Given the description of an element on the screen output the (x, y) to click on. 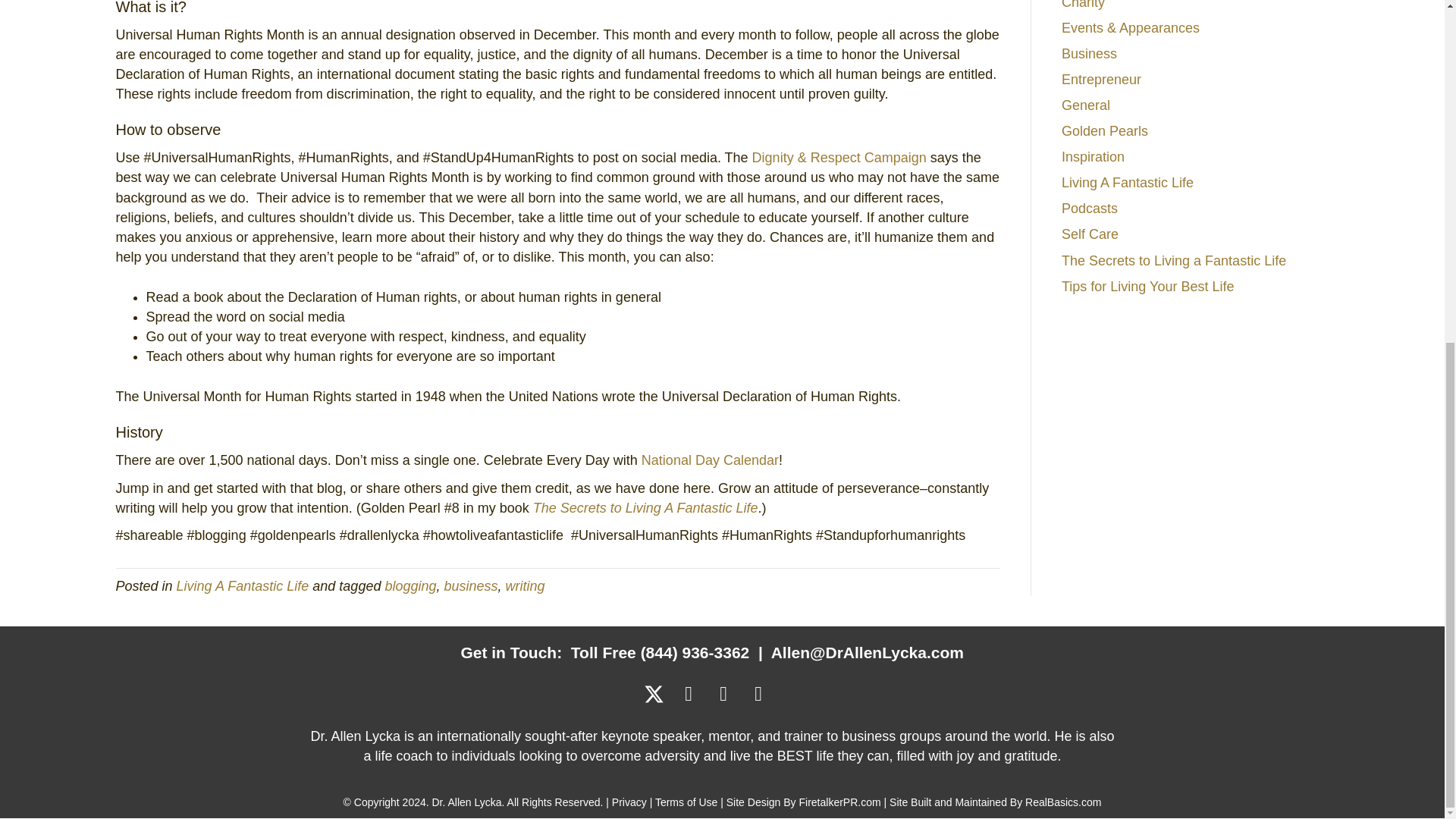
YouTube (723, 693)
writing (524, 585)
What is it? (150, 7)
blogging (409, 585)
Instagram (757, 693)
National Day Calendar (710, 459)
LinkedIn (688, 693)
The Secrets to Living A Fantastic Life (645, 507)
business (470, 585)
Living A Fantastic Life (242, 585)
